Given the description of an element on the screen output the (x, y) to click on. 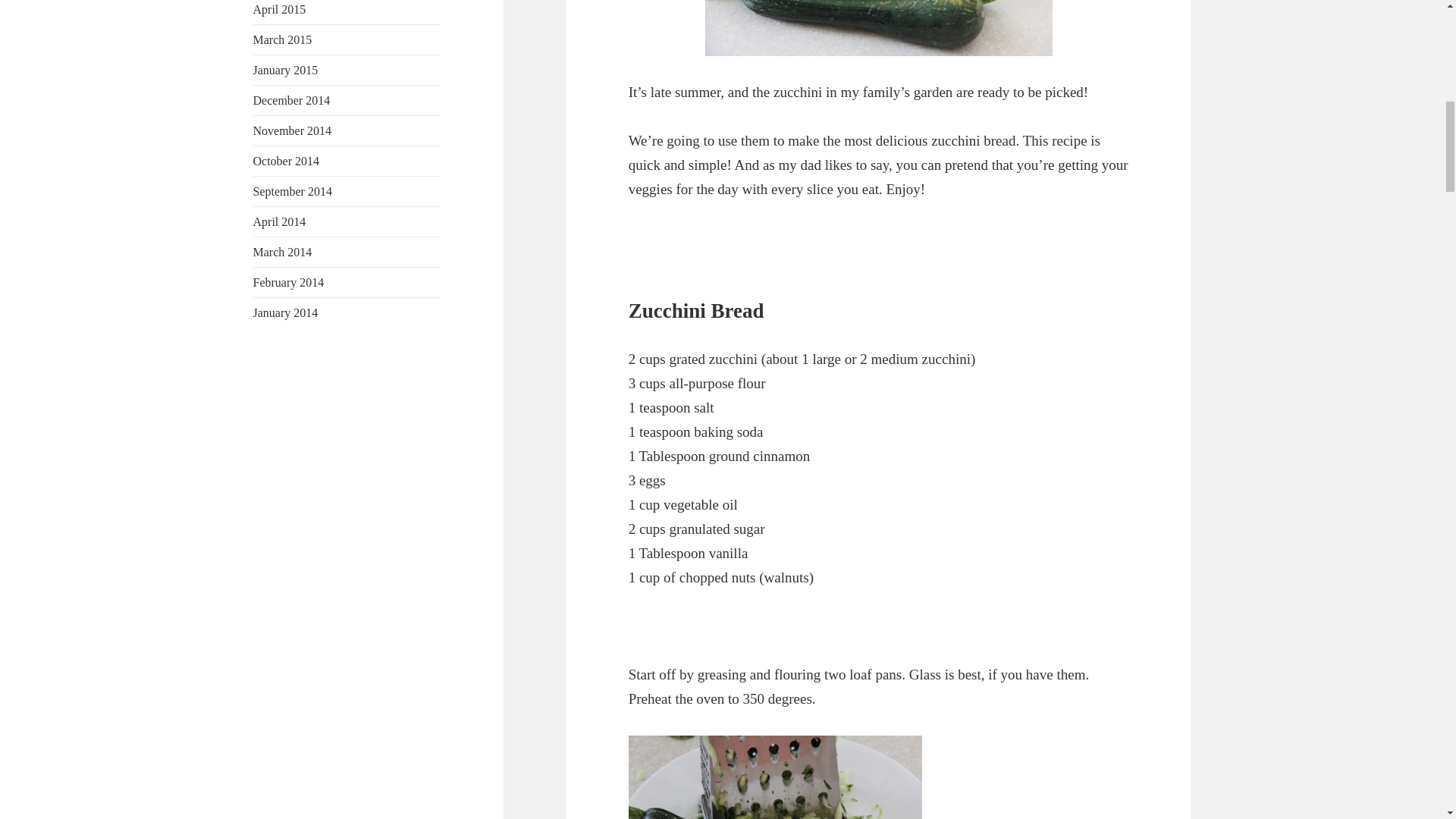
January 2015 (285, 69)
February 2014 (288, 282)
March 2014 (283, 251)
March 2015 (283, 39)
September 2014 (292, 191)
October 2014 (286, 160)
January 2014 (285, 312)
April 2014 (279, 221)
April 2015 (279, 9)
November 2014 (292, 130)
